Given the description of an element on the screen output the (x, y) to click on. 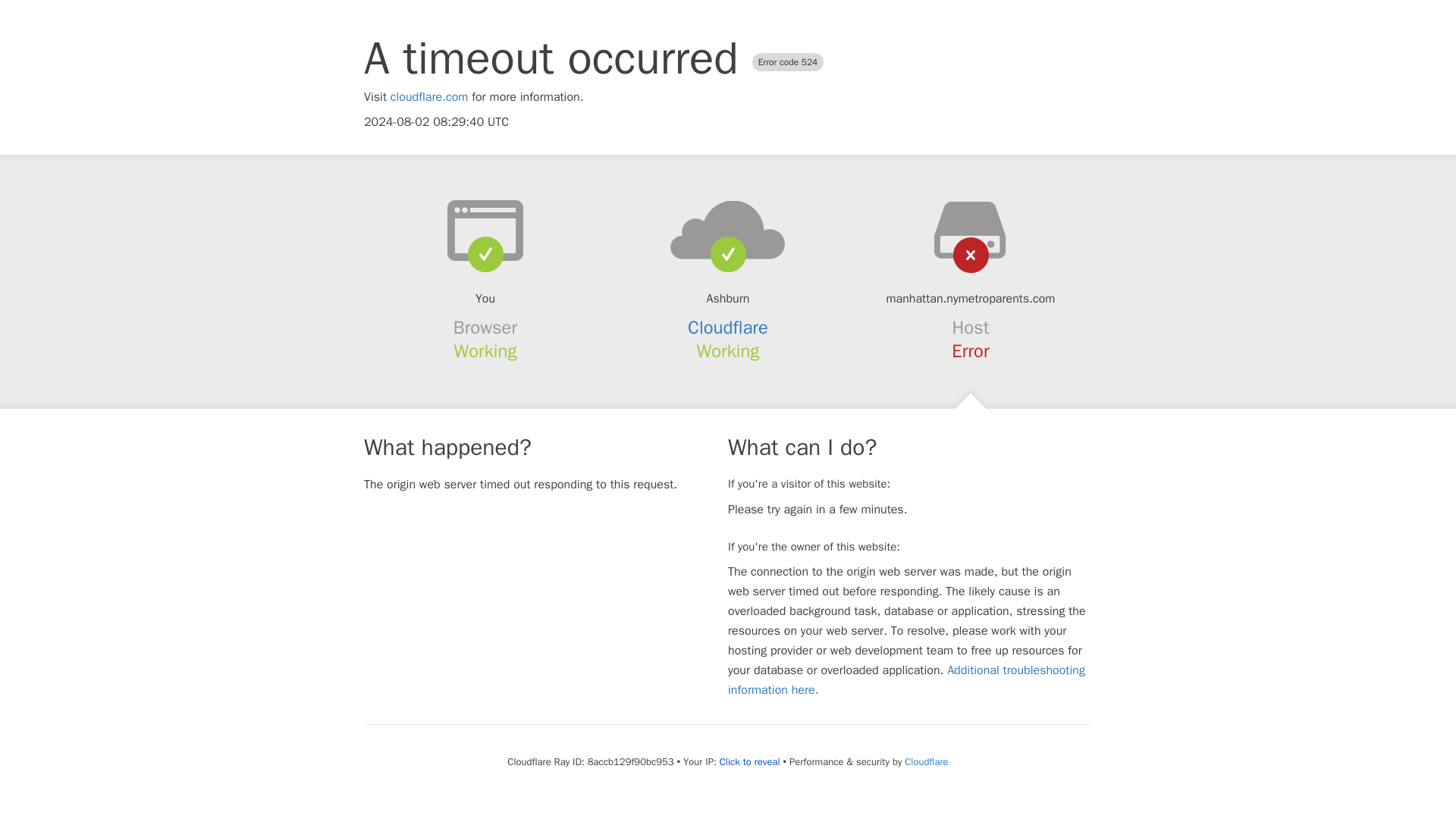
Additional troubleshooting information here. (906, 679)
Cloudflare (925, 761)
cloudflare.com (429, 96)
Click to reveal (749, 762)
Cloudflare (727, 327)
